Given the description of an element on the screen output the (x, y) to click on. 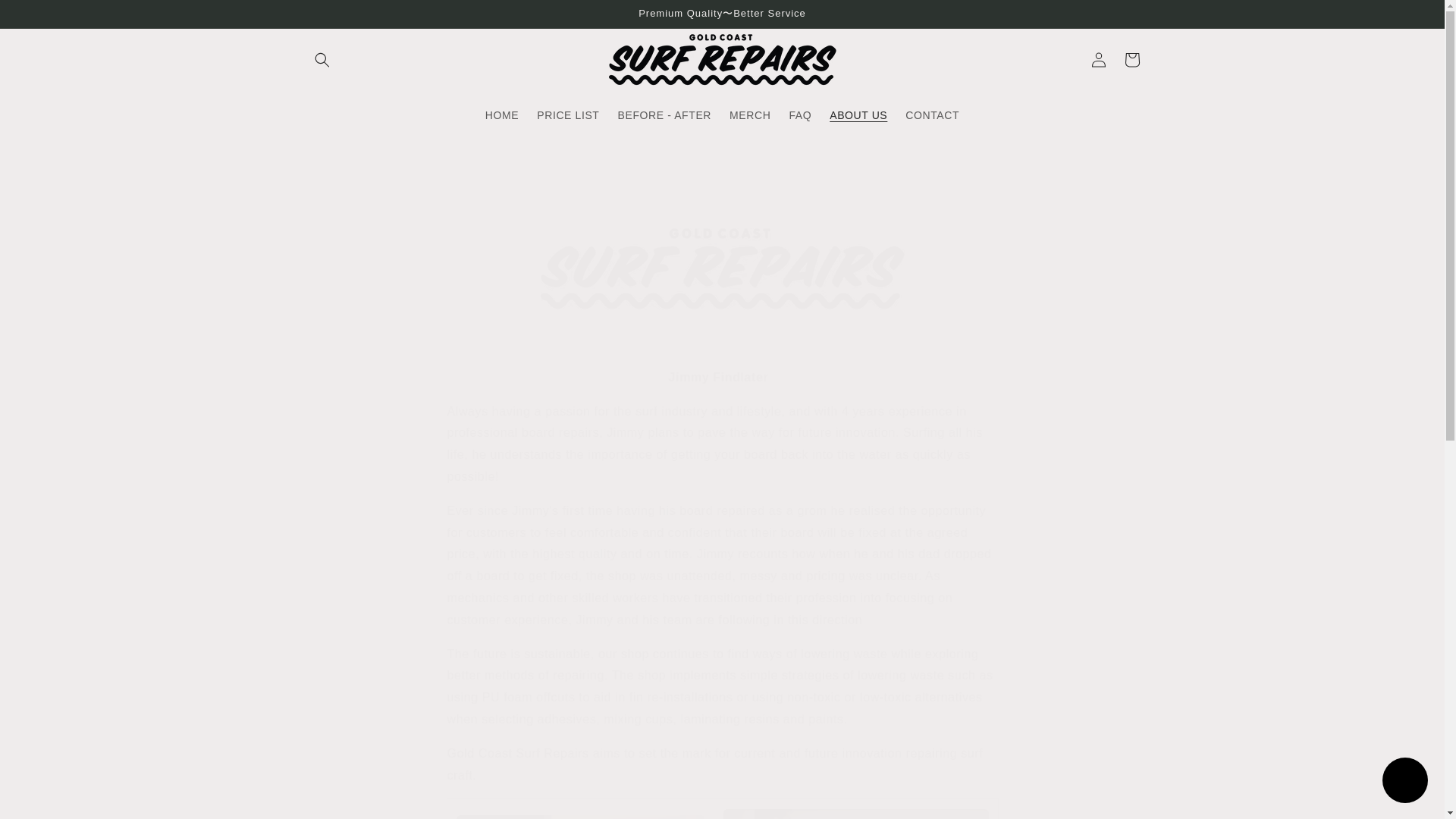
Shopify online store chat (1404, 781)
CONTACT (932, 115)
Cart (1131, 59)
PRICE LIST (567, 115)
MERCH (749, 115)
HOME (501, 115)
Skip to content (45, 17)
BEFORE - AFTER (664, 115)
ABOUT US (858, 115)
FAQ (799, 115)
